Given the description of an element on the screen output the (x, y) to click on. 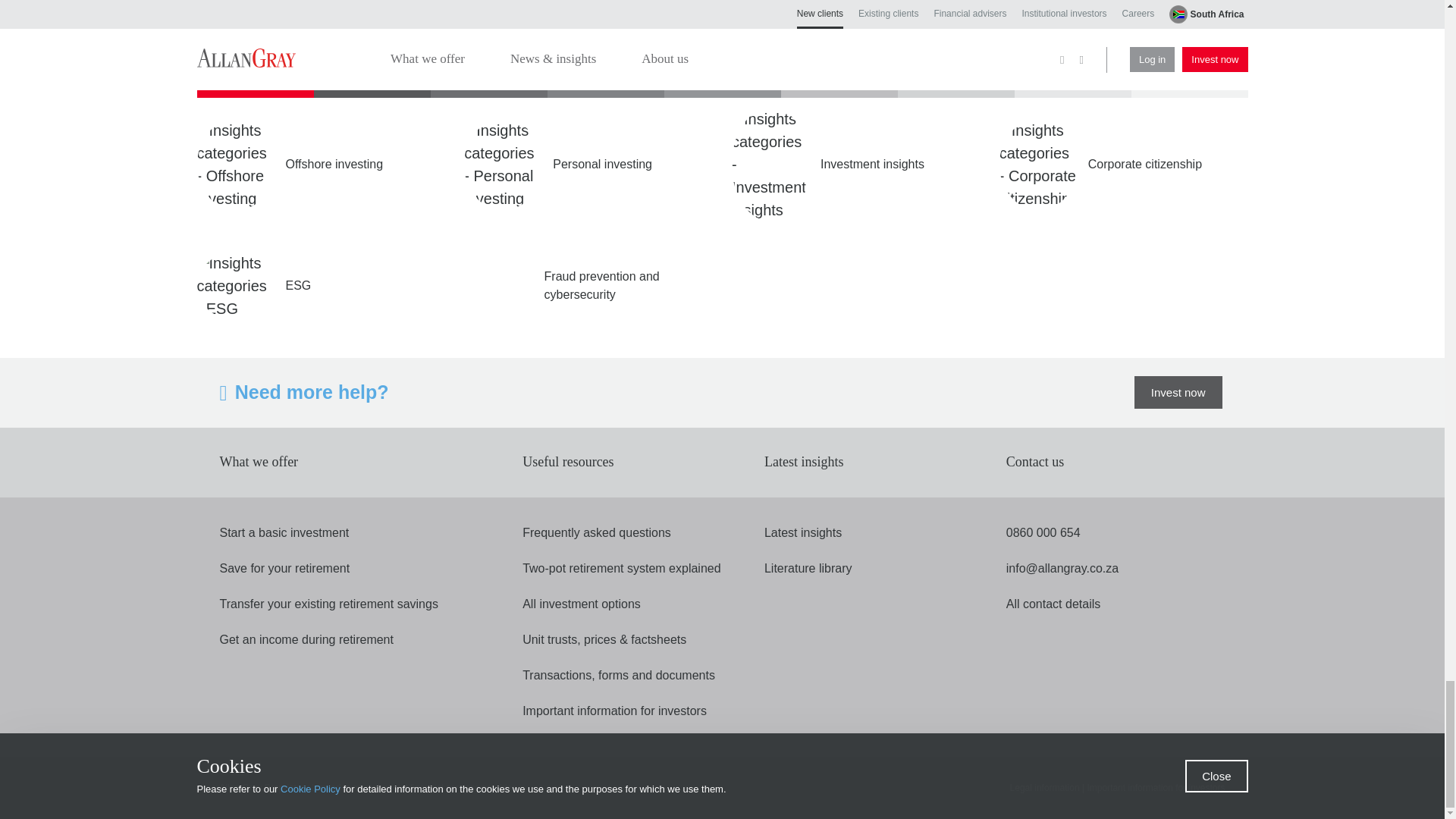
Two-pot retirement system explained (621, 568)
